Given the description of an element on the screen output the (x, y) to click on. 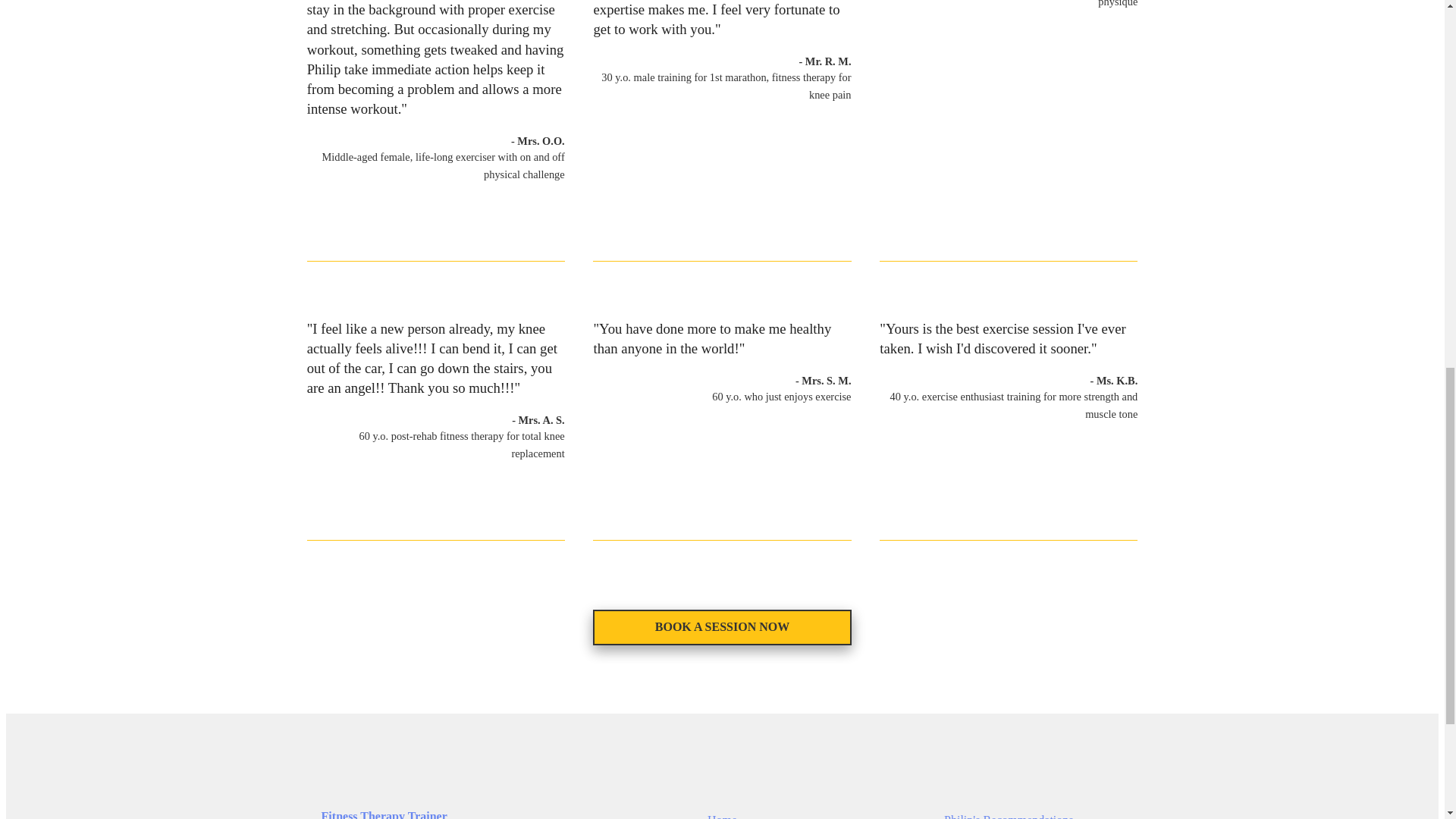
Home (721, 816)
BOOK A SESSION NOW (721, 627)
Philip's Recommendations (1008, 816)
